Given the description of an element on the screen output the (x, y) to click on. 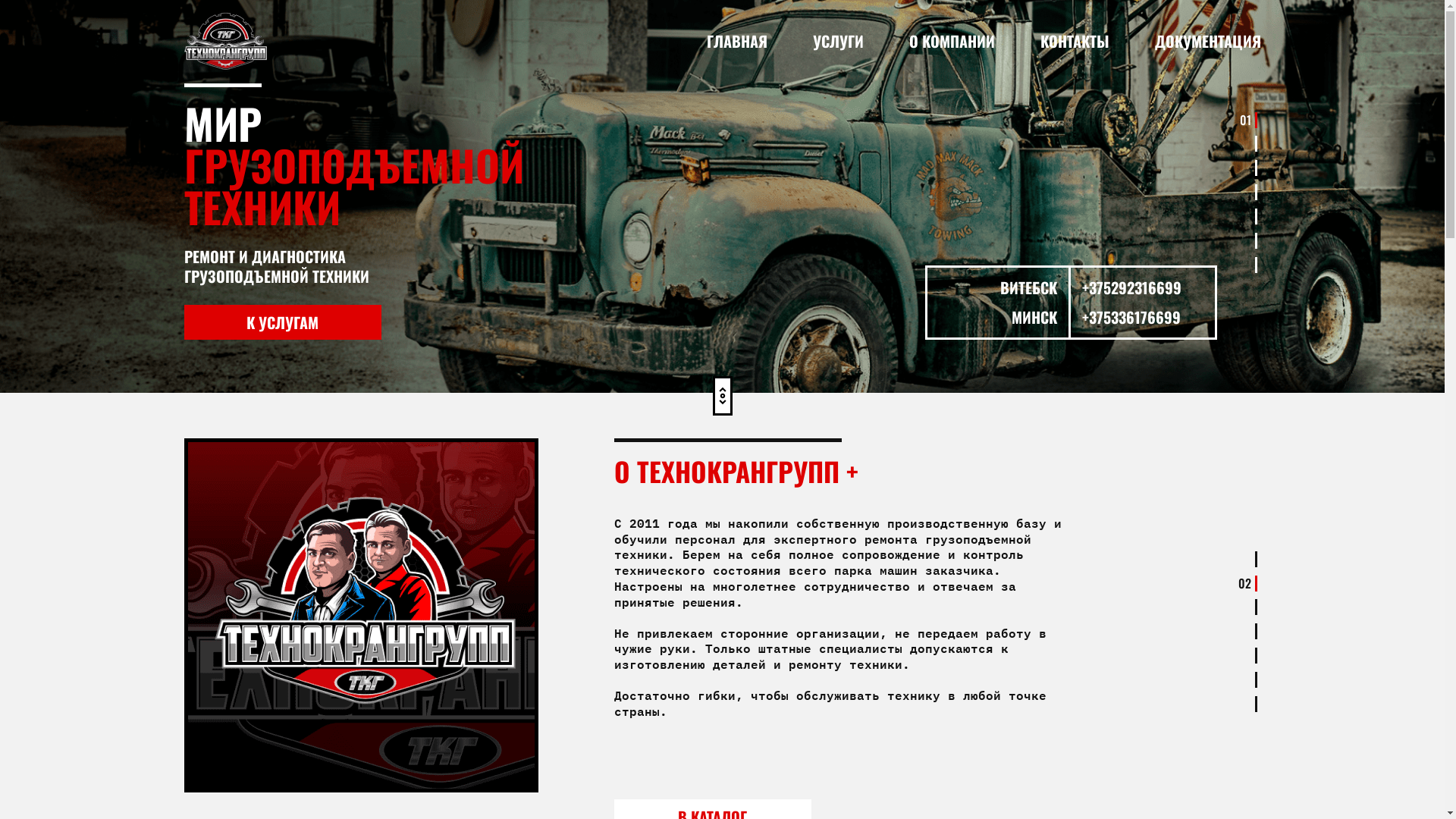
02 Element type: text (1246, 583)
+375292316699 Element type: text (1142, 287)
+375336176699 Element type: text (1142, 317)
01 Element type: text (1247, 120)
